Given the description of an element on the screen output the (x, y) to click on. 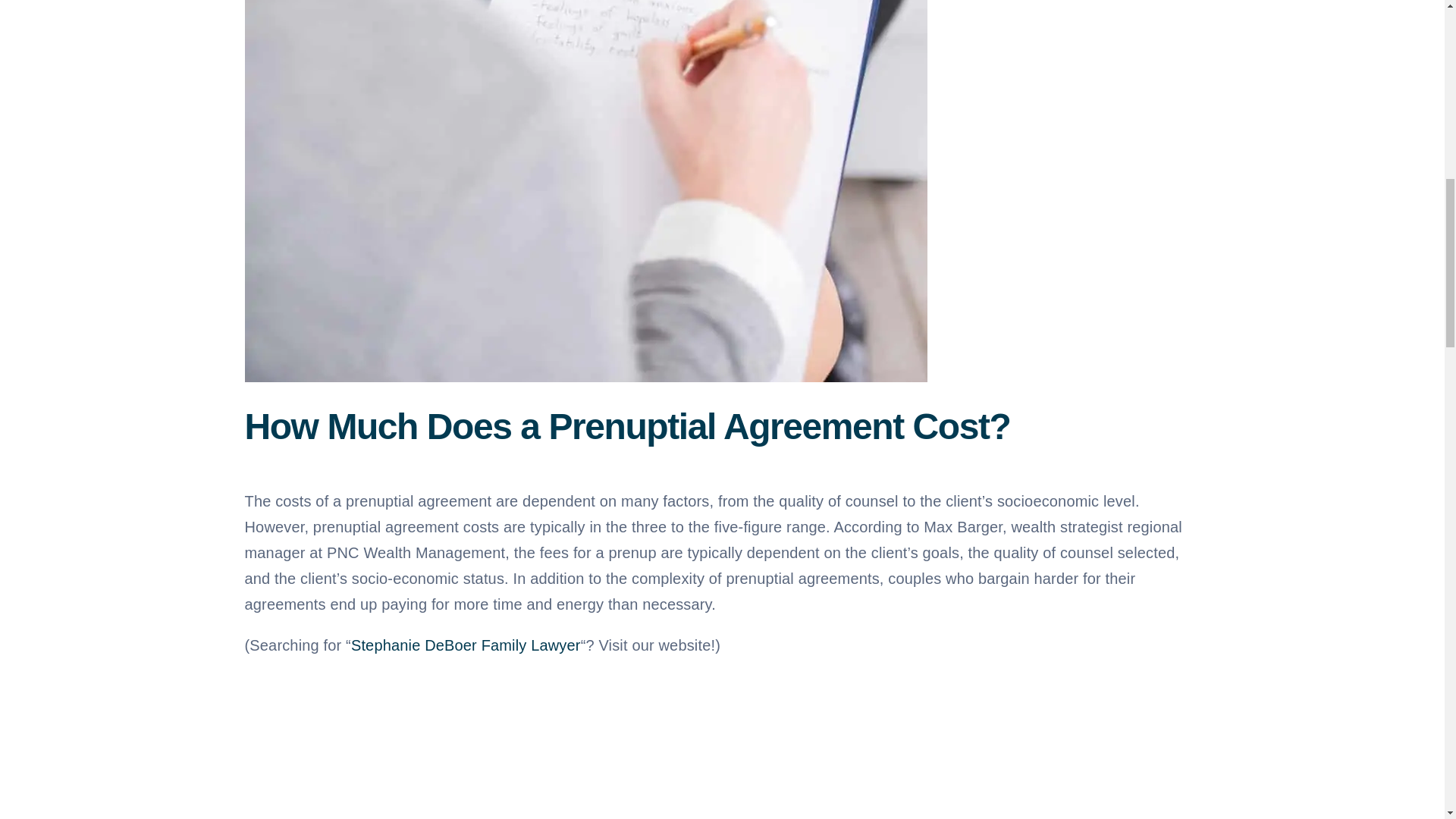
Stephanie DeBoer Family Lawyer (465, 645)
